Given the description of an element on the screen output the (x, y) to click on. 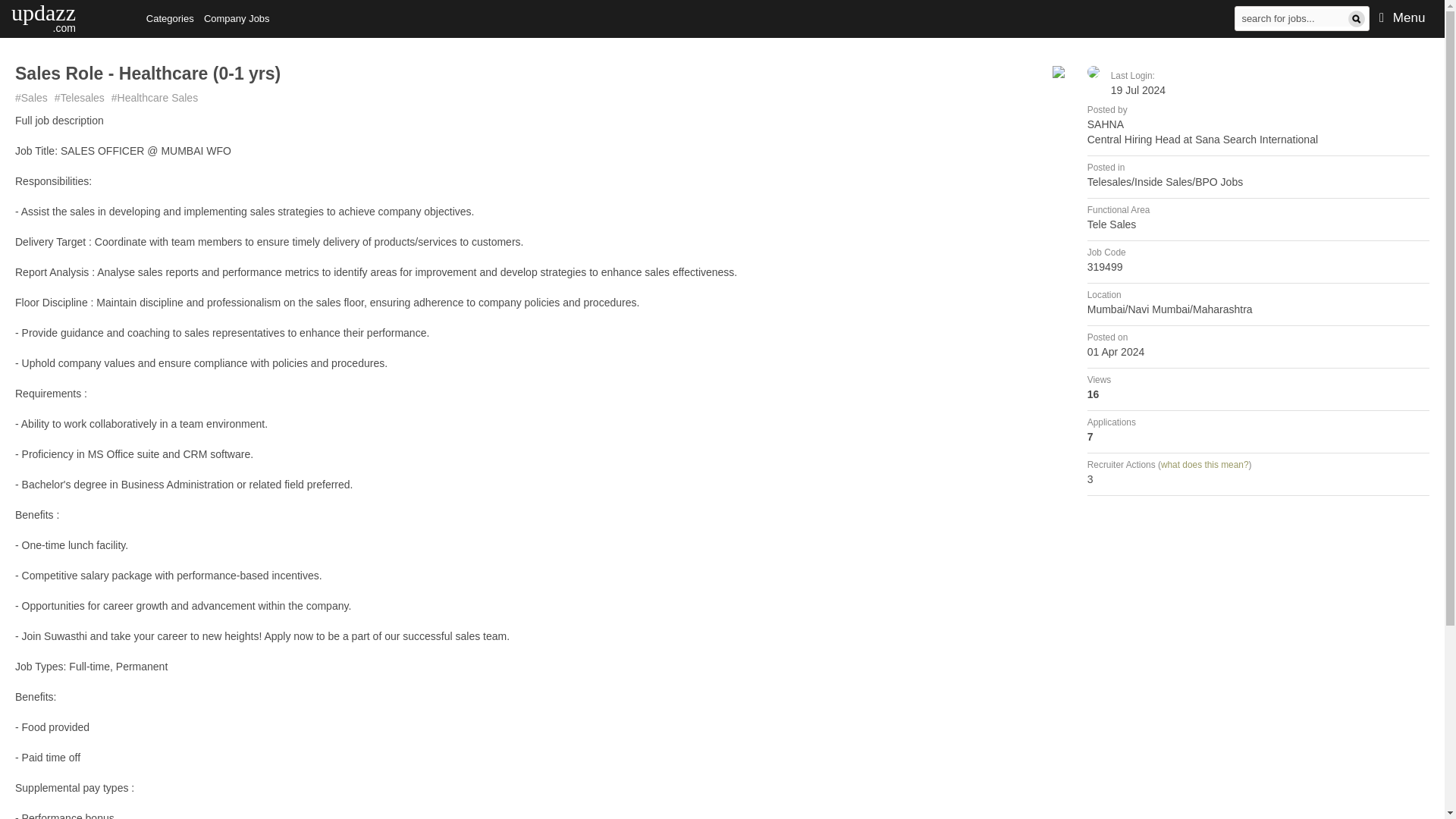
Sales Jobs (31, 97)
search for jobs... (1291, 17)
Menu (1403, 18)
Company Jobs (236, 18)
Categories (169, 18)
search for jobs... (43, 15)
Healthcare Sales Jobs (1291, 17)
Telesales Jobs (155, 97)
